Given the description of an element on the screen output the (x, y) to click on. 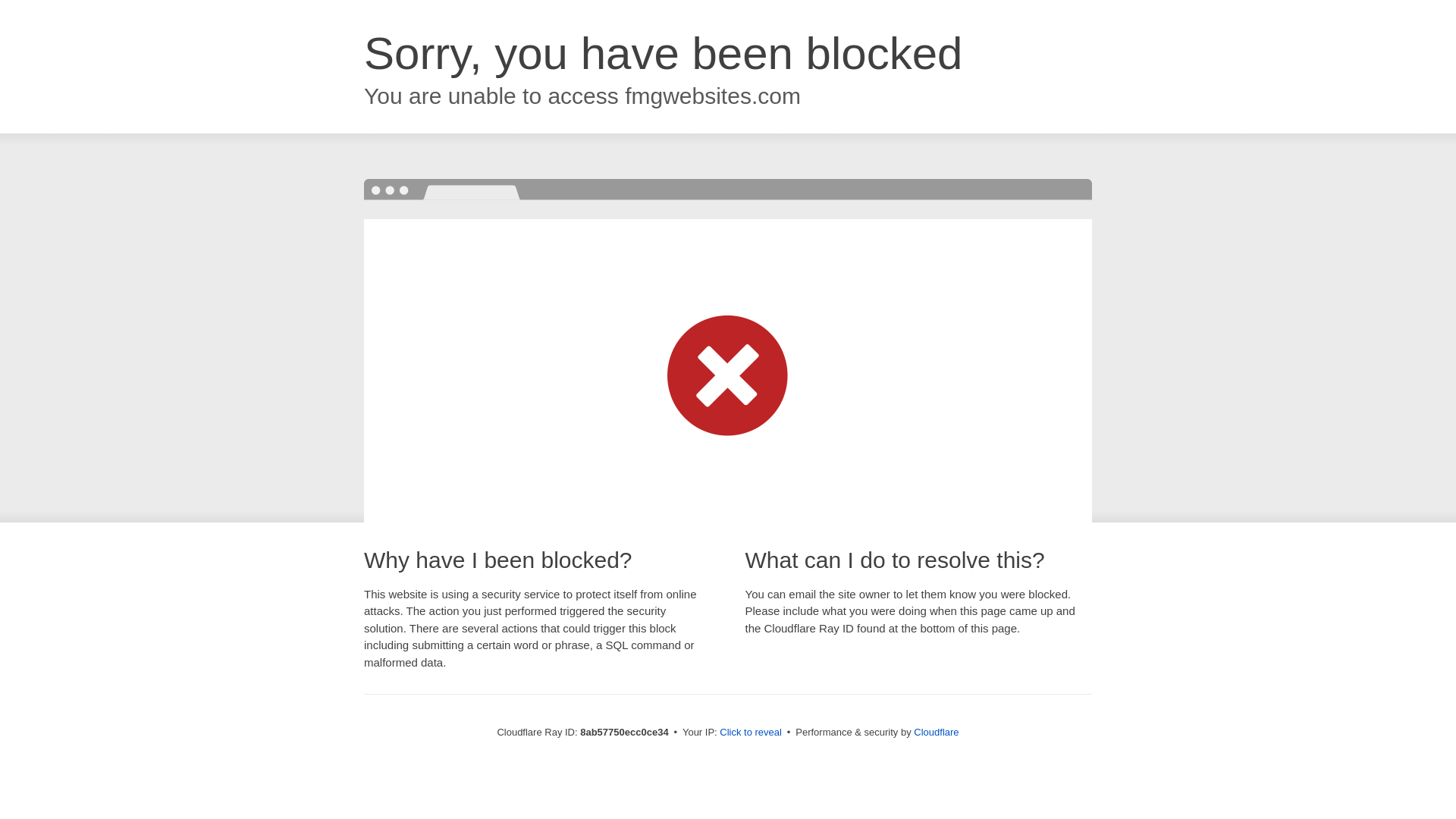
Click to reveal (750, 732)
Cloudflare (936, 731)
